Given the description of an element on the screen output the (x, y) to click on. 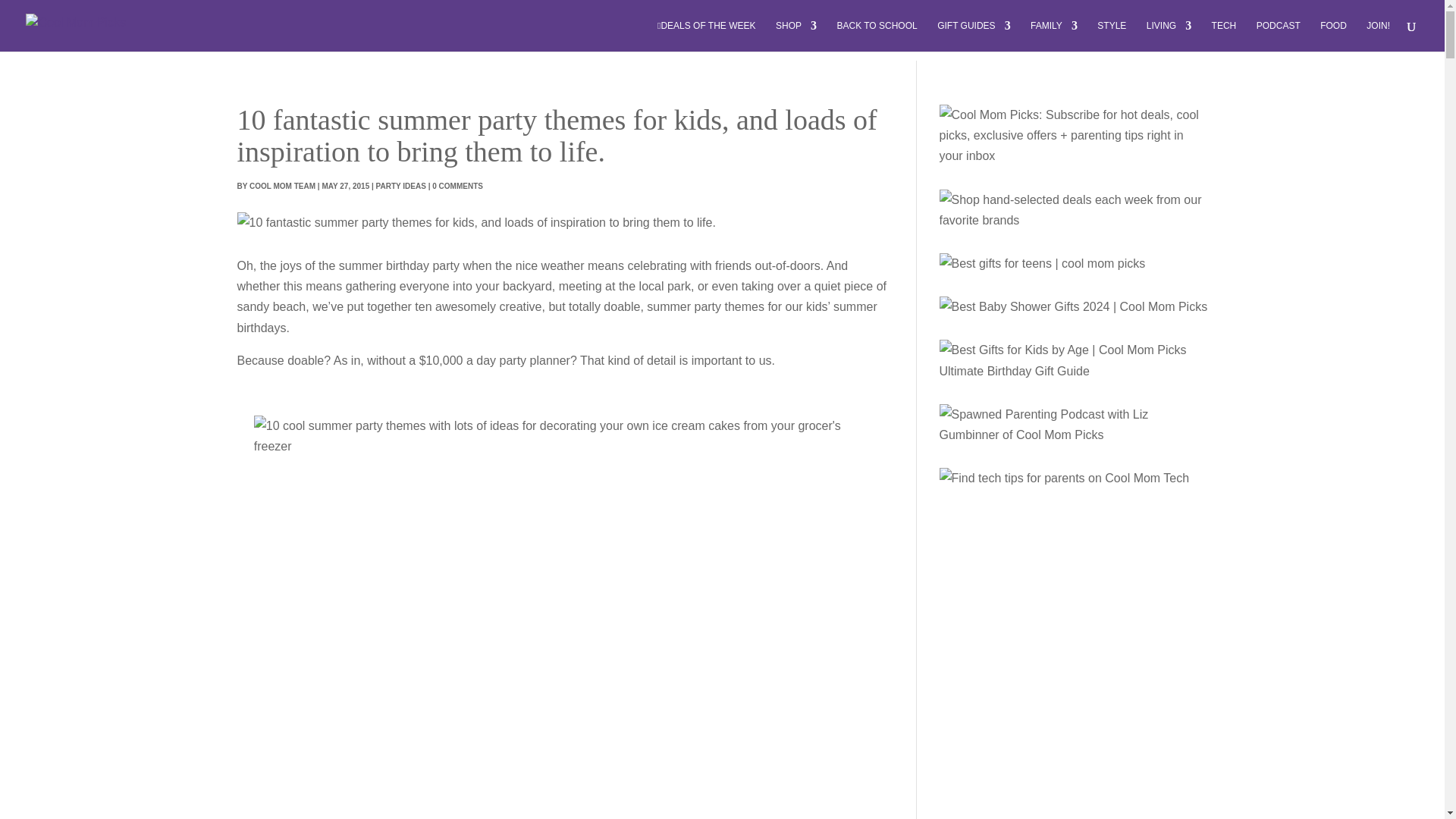
STYLE (1111, 35)
BACK TO SCHOOL (876, 35)
Posts by Cool Mom Team (281, 185)
LIVING (1169, 35)
SHOP (796, 35)
FAMILY (1053, 35)
GIFT GUIDES (973, 35)
